Given the description of an element on the screen output the (x, y) to click on. 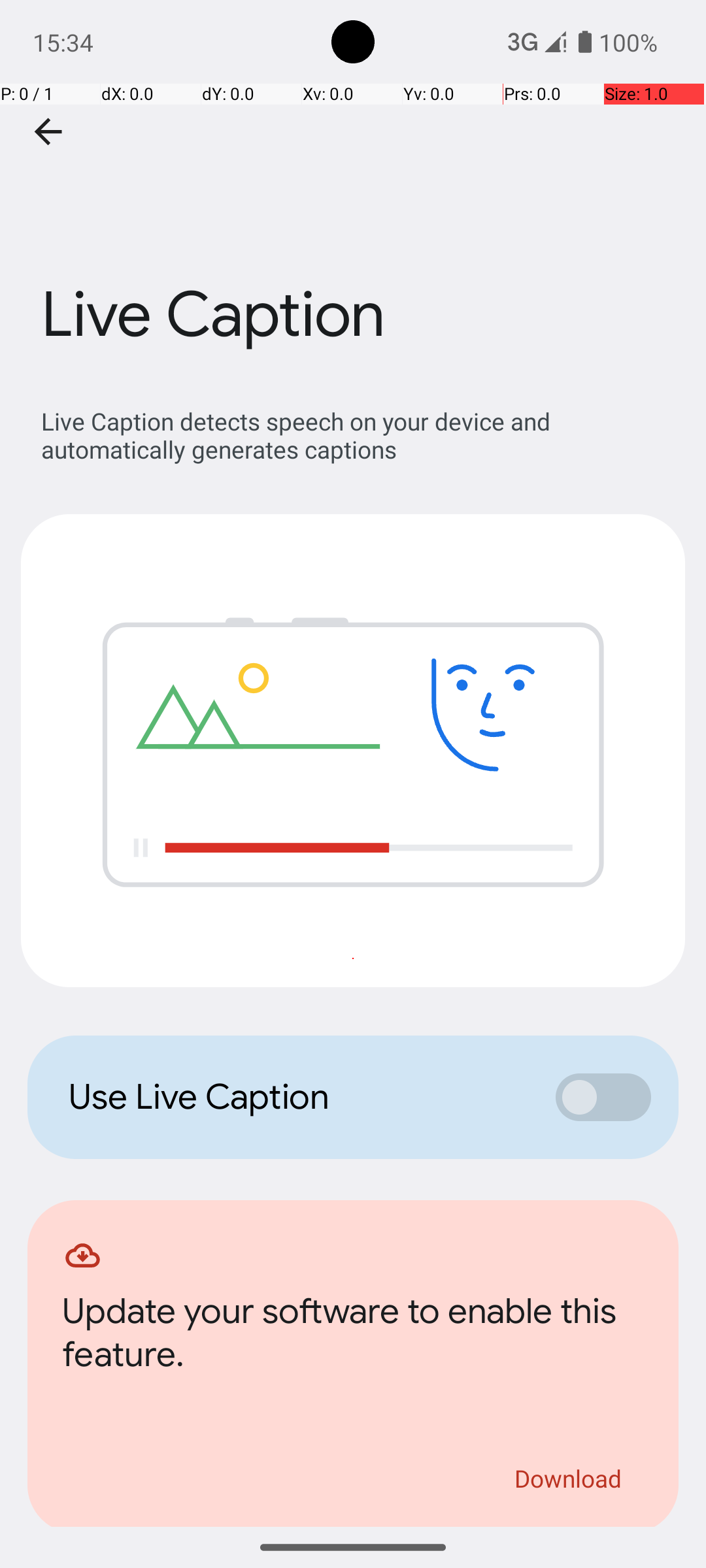
Live Caption Element type: android.widget.FrameLayout (353, 195)
Live Caption detects speech on your device and automatically generates captions Element type: android.widget.TextView (359, 434)
Use Live Caption Element type: android.widget.TextView (298, 1096)
Update your software to enable this feature. Element type: android.widget.TextView (352, 1336)
Download Element type: android.widget.Button (567, 1478)
